Given the description of an element on the screen output the (x, y) to click on. 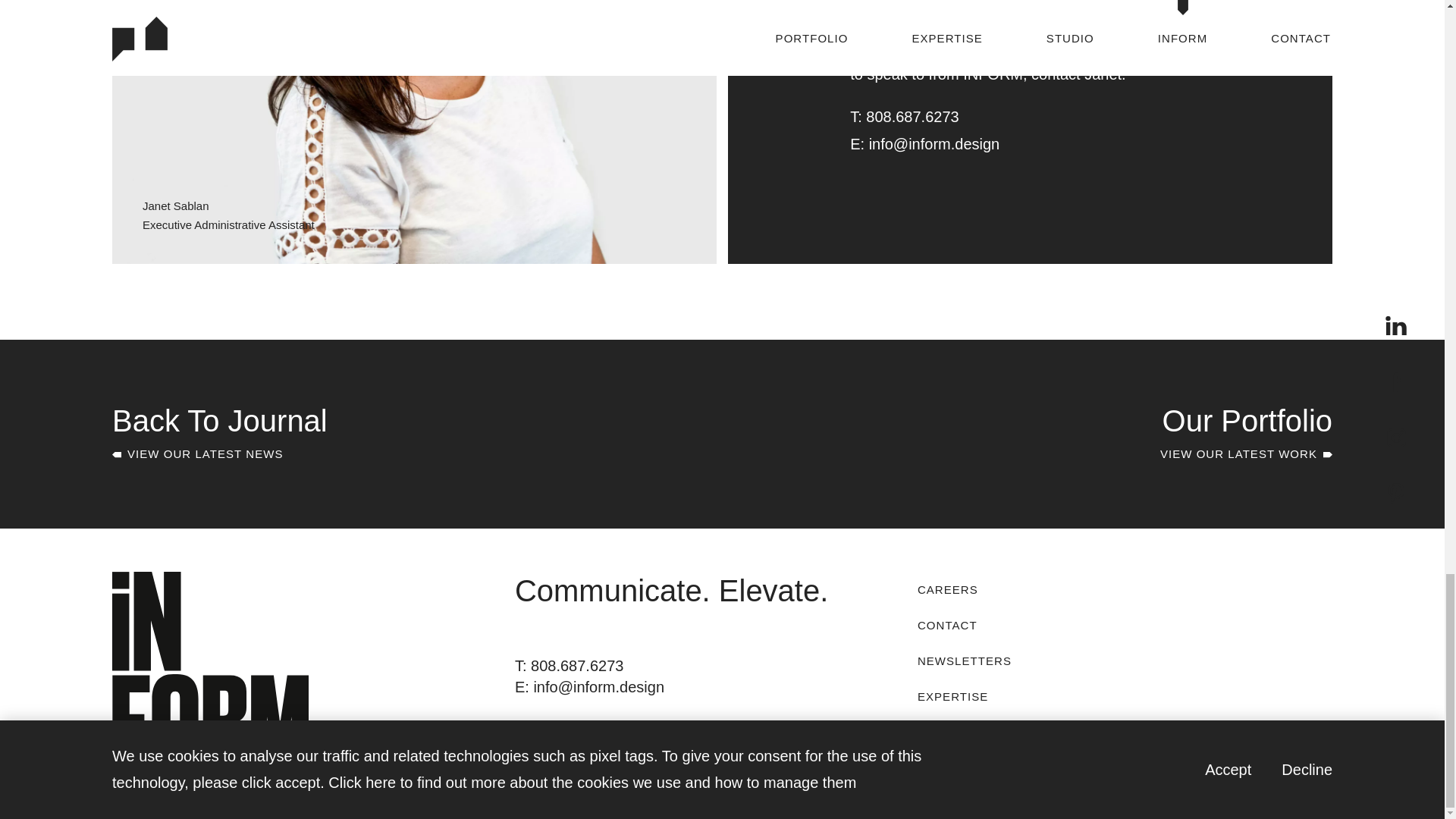
T: 808.687.6273 (569, 665)
CAREERS (1008, 588)
NEWSLETTERS (1008, 624)
T: 808.687.6273 (1008, 660)
EXPERTISE (1038, 116)
PRIVACY POLICY (1008, 695)
